Given the description of an element on the screen output the (x, y) to click on. 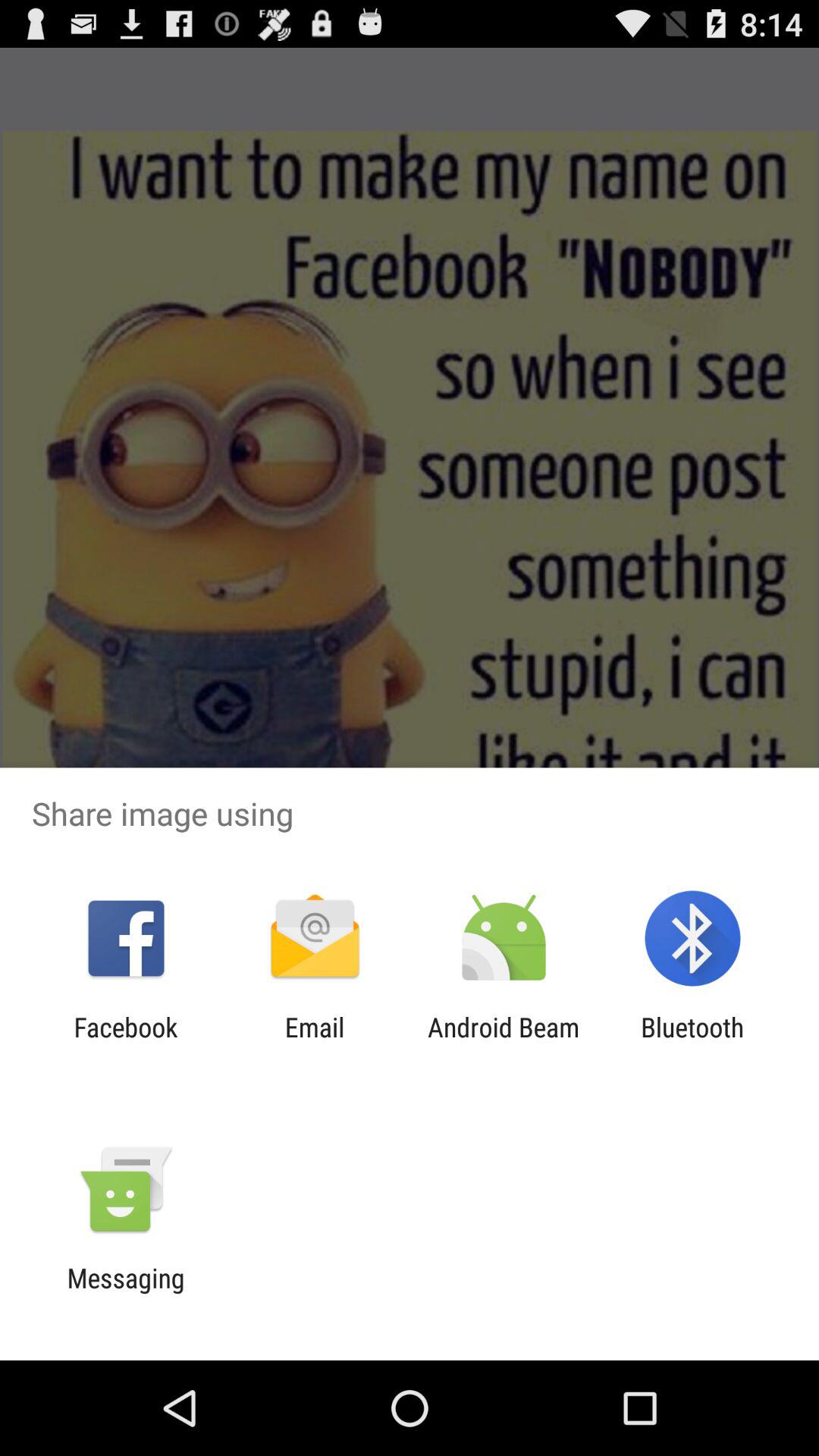
launch item to the right of email (503, 1042)
